Given the description of an element on the screen output the (x, y) to click on. 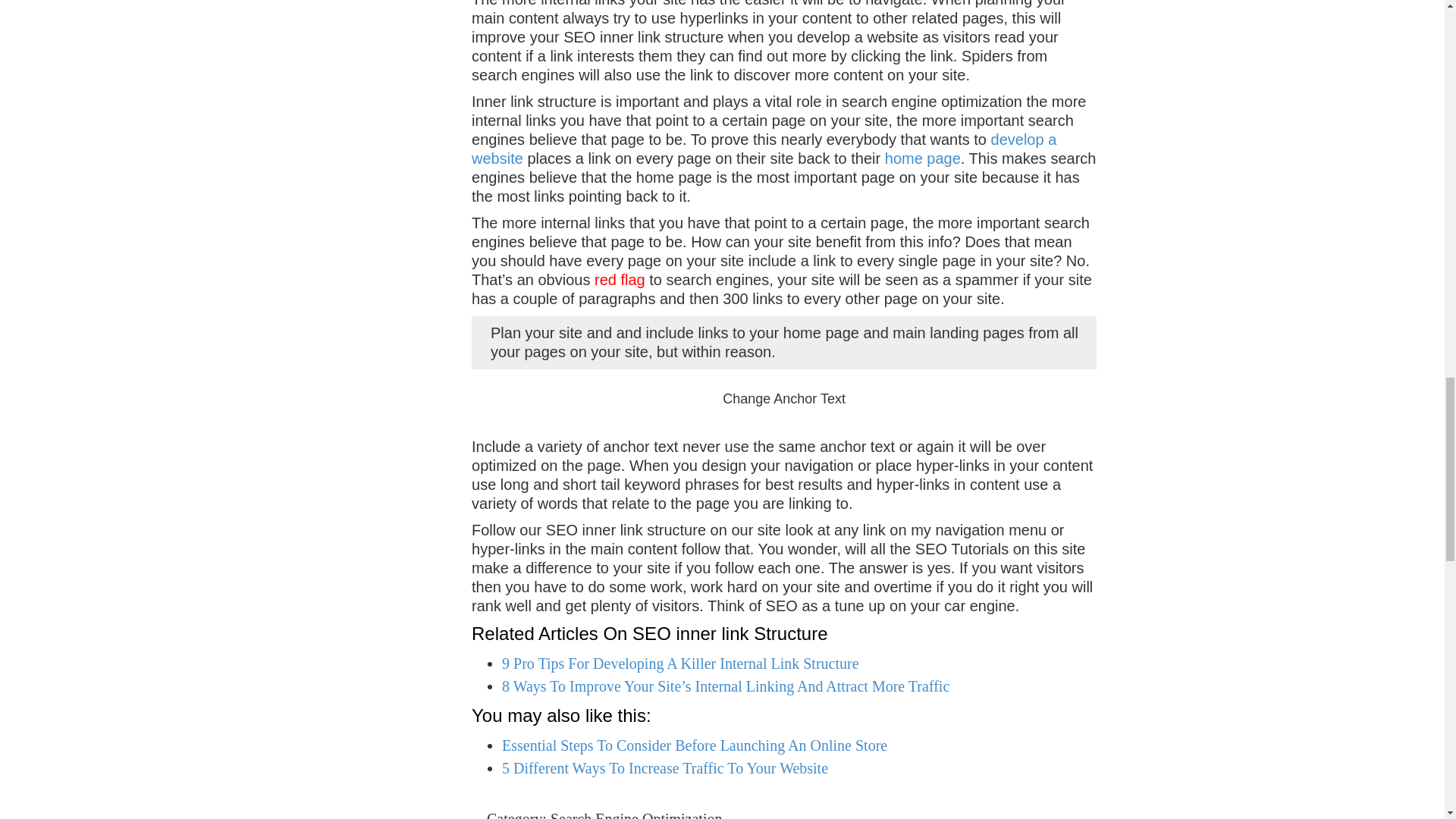
Learn how to build a website in 3 easy steps. (922, 158)
Learn how to create a website in 3 easy steps. (764, 149)
